Given the description of an element on the screen output the (x, y) to click on. 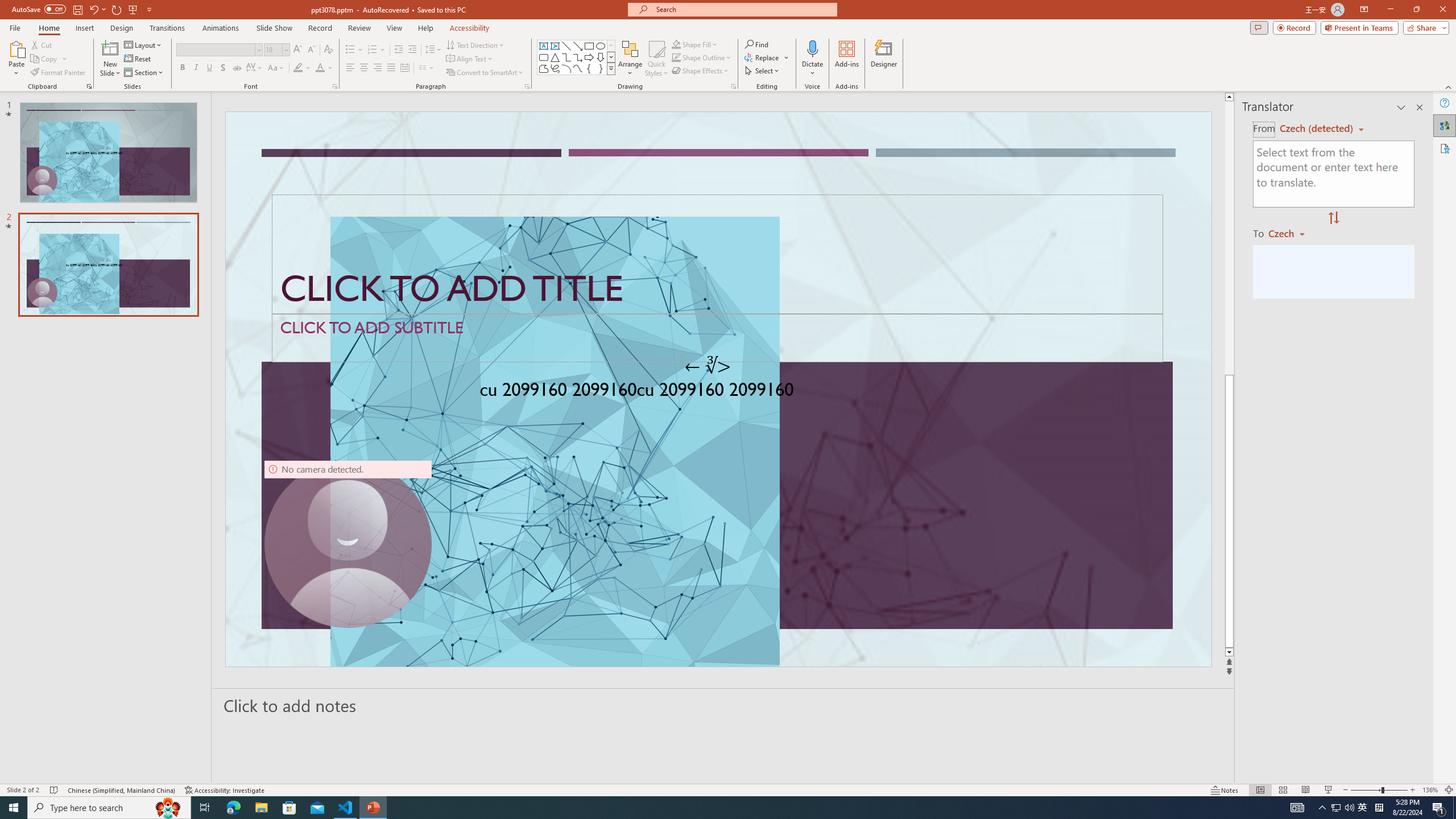
TextBox 61 (716, 391)
